Given the description of an element on the screen output the (x, y) to click on. 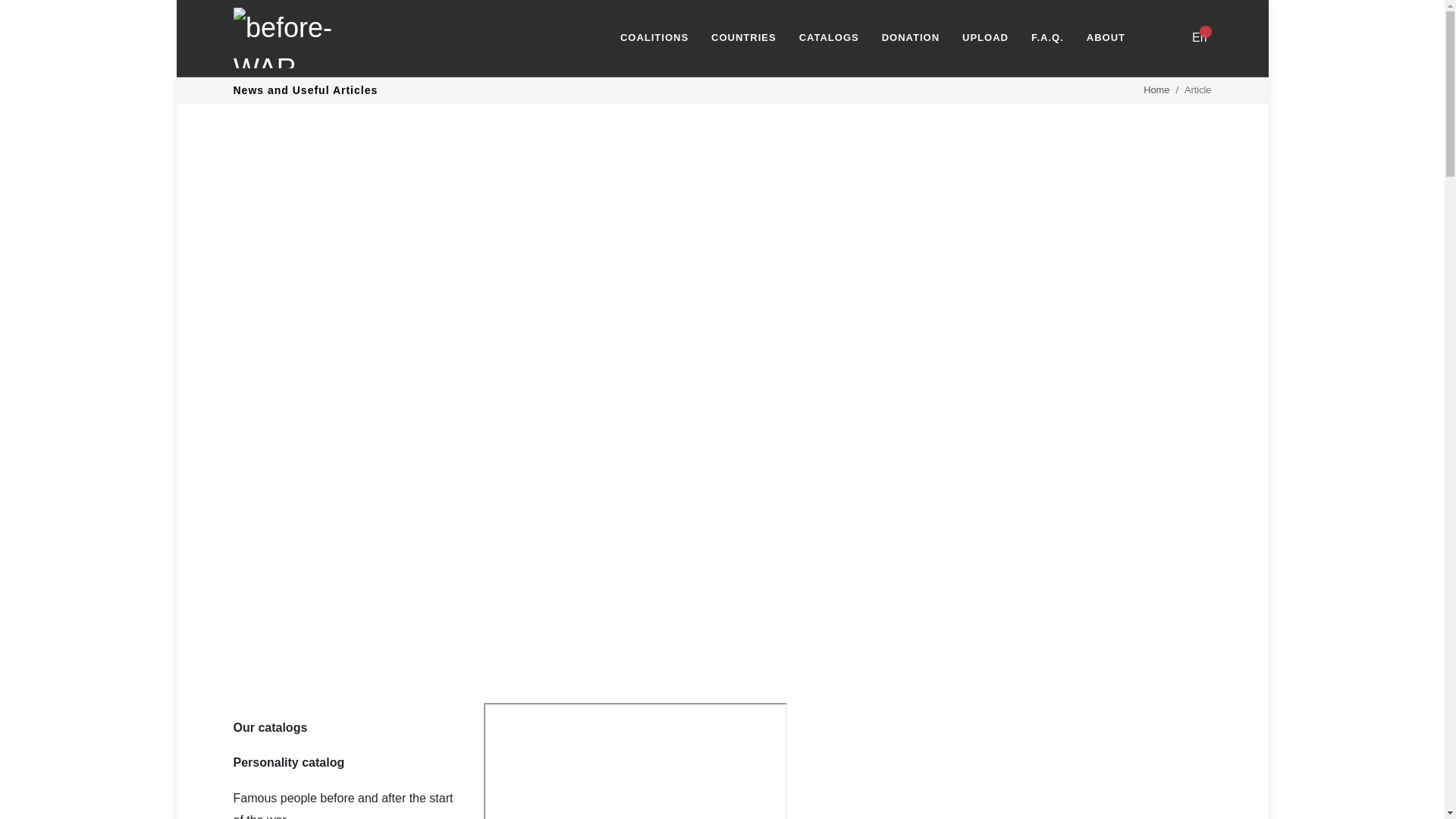
DONATION (909, 38)
UPLOAD (985, 38)
Home (1155, 89)
Before-WAR-After.com (293, 37)
COUNTRIES (743, 38)
En (1198, 38)
ABOUT (1104, 38)
COALITIONS (653, 38)
CATALOGS (828, 38)
F.A.Q. (1046, 38)
